Given the description of an element on the screen output the (x, y) to click on. 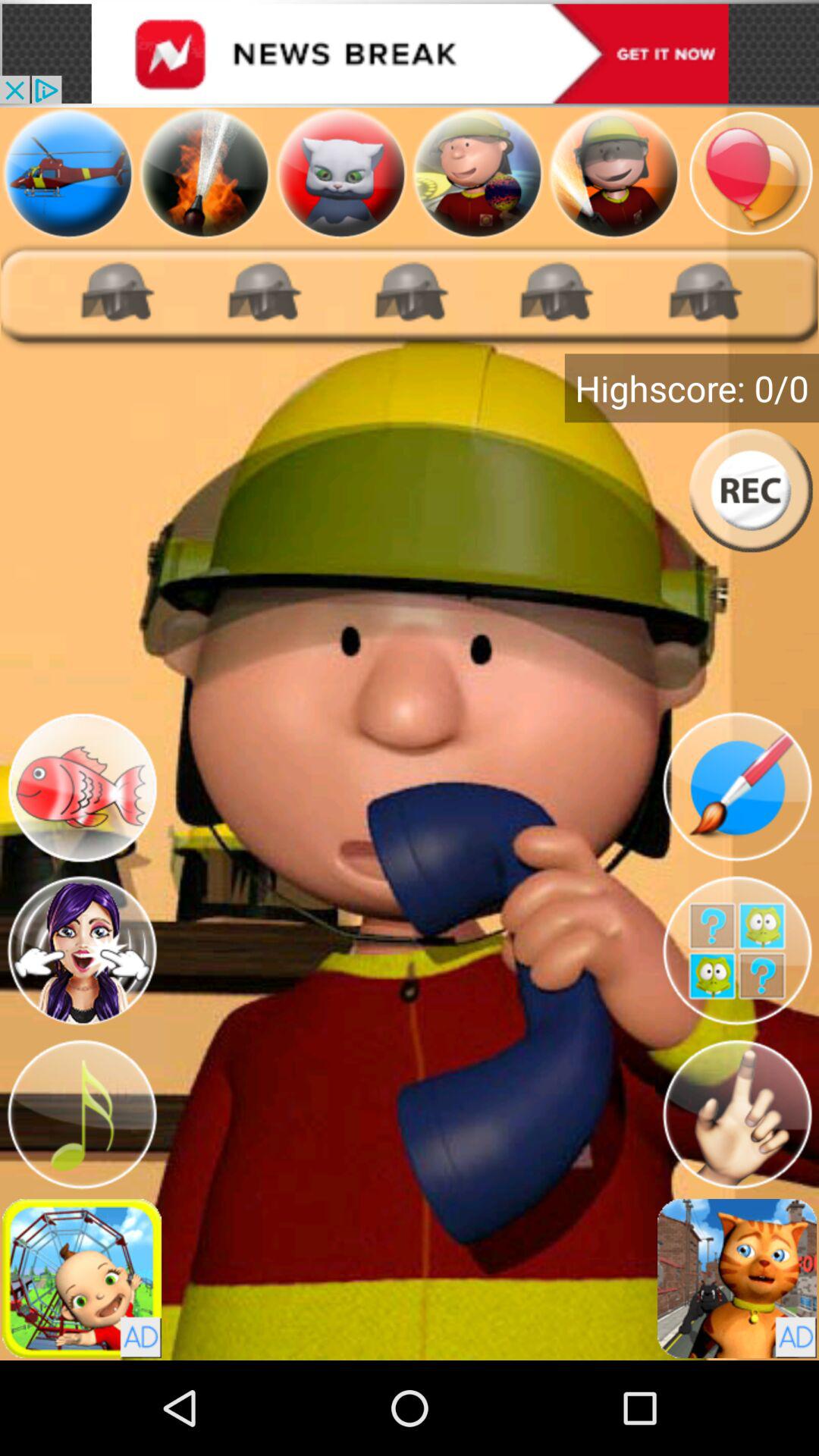
advertisement link to different site (409, 53)
